Given the description of an element on the screen output the (x, y) to click on. 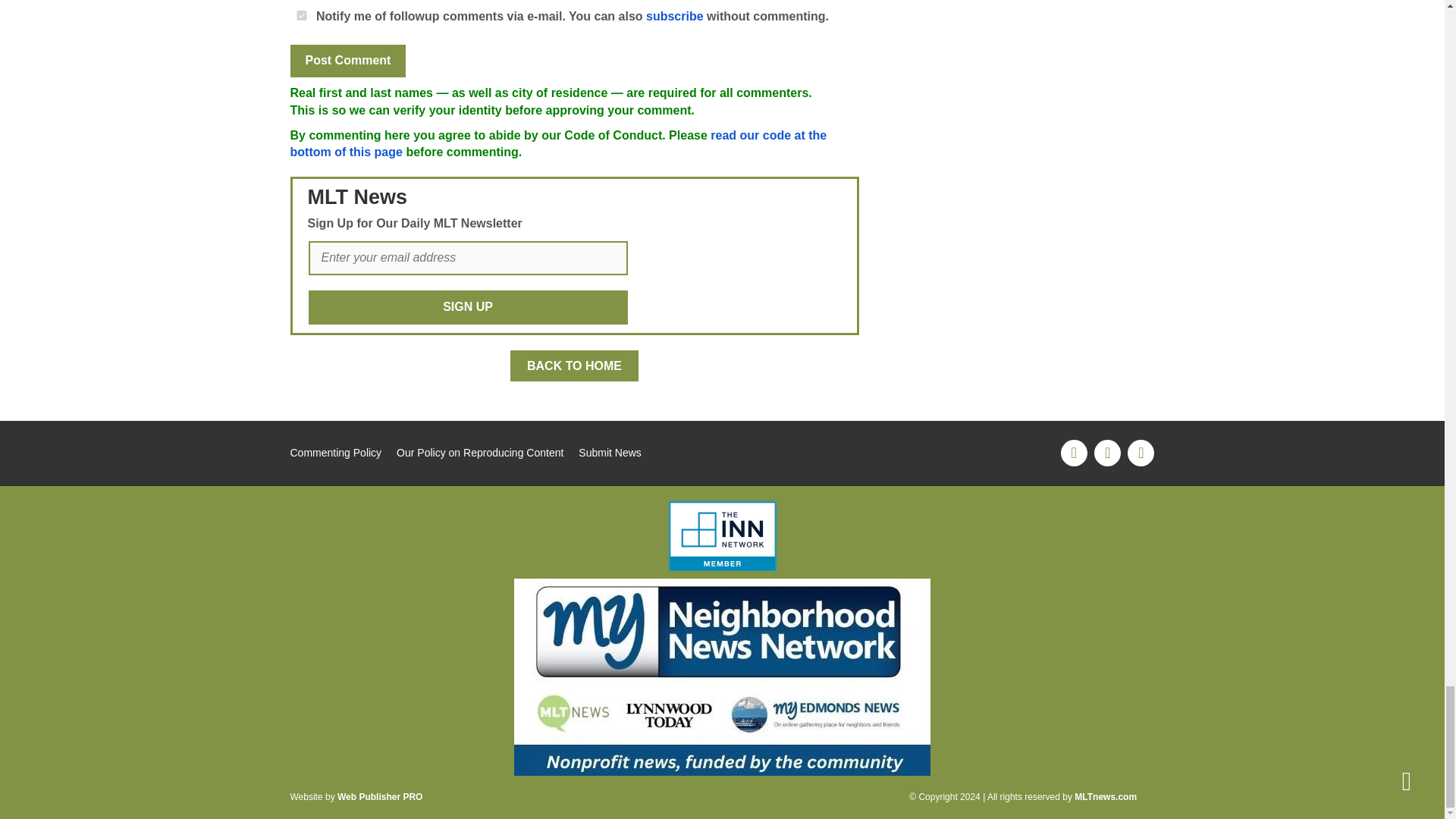
Sign Up (467, 307)
yes (301, 15)
Post Comment (347, 60)
